Given the description of an element on the screen output the (x, y) to click on. 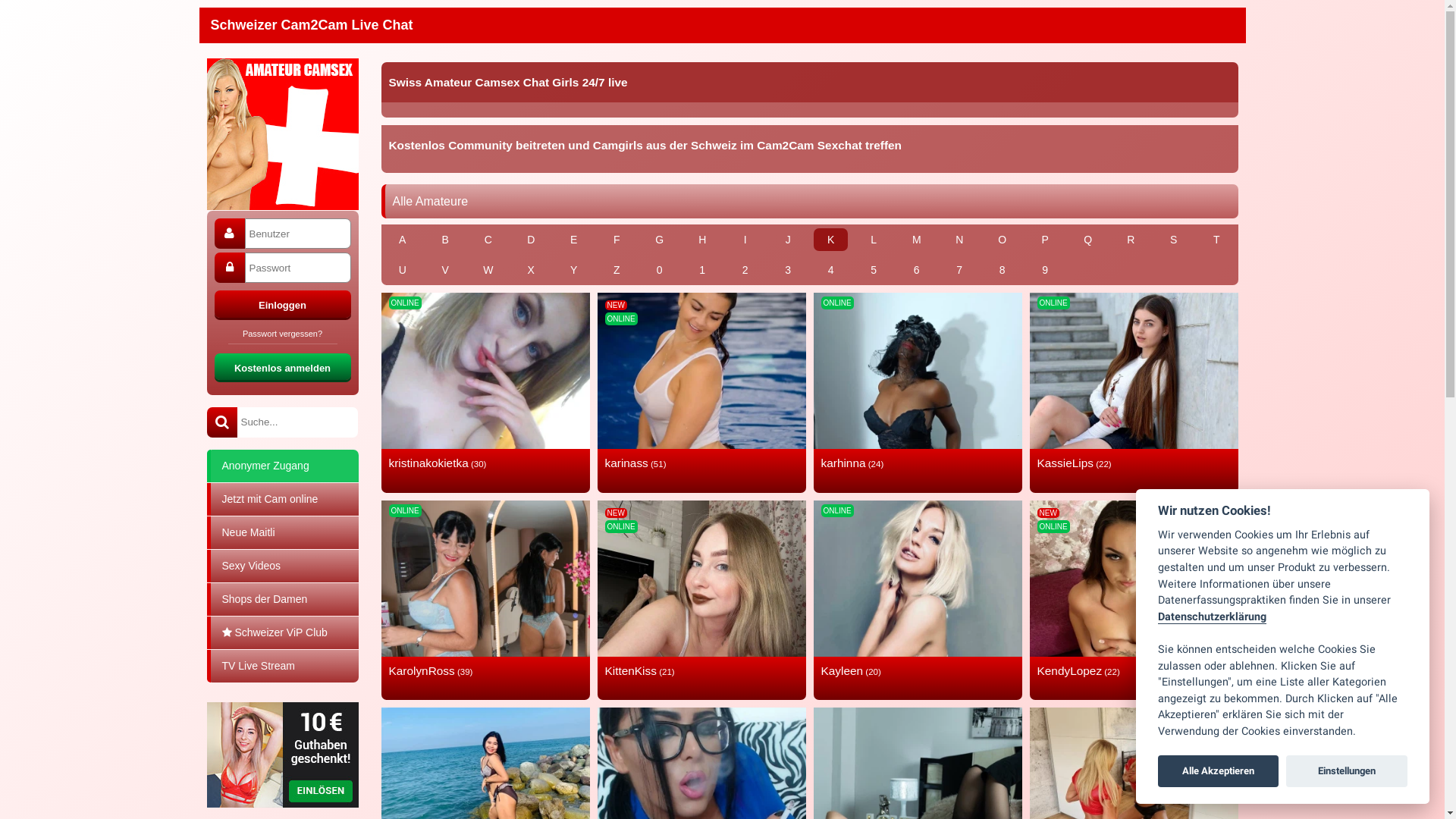
Schweizer Cam2Cam Live Chat Element type: text (311, 24)
0 Element type: text (659, 269)
N Element type: text (959, 239)
H Element type: text (702, 239)
Sexy Videos Element type: text (281, 565)
F Element type: text (616, 239)
Y Element type: text (573, 269)
B Element type: text (445, 239)
C Element type: text (487, 239)
1 Element type: text (702, 269)
E Element type: text (573, 239)
Kostenlos anmelden Element type: text (281, 366)
S Element type: text (1173, 239)
V Element type: text (445, 269)
R Element type: text (1130, 239)
TV Live Stream Element type: text (281, 665)
Shops der Damen Element type: text (281, 598)
8 Element type: text (1002, 269)
J Element type: text (788, 239)
4 Element type: text (830, 269)
I Element type: text (745, 239)
T Element type: text (1216, 239)
U Element type: text (402, 269)
M Element type: text (916, 239)
Schweizer ViP Club Element type: text (281, 631)
Anonymer Zugang Element type: text (281, 464)
Q Element type: text (1087, 239)
G Element type: text (659, 239)
Passwort vergessen? Element type: text (281, 335)
9 Element type: text (1045, 269)
Jetzt mit Cam online Element type: text (281, 498)
Einloggen Element type: text (281, 303)
A Element type: text (402, 239)
3 Element type: text (788, 269)
6 Element type: text (916, 269)
O Element type: text (1002, 239)
5 Element type: text (873, 269)
W Element type: text (487, 269)
7 Element type: text (959, 269)
X Element type: text (531, 269)
Z Element type: text (616, 269)
L Element type: text (873, 239)
Einstellungen Element type: text (1346, 771)
Alle Akzeptieren Element type: text (1218, 771)
2 Element type: text (745, 269)
D Element type: text (531, 239)
P Element type: text (1045, 239)
Neue Maitli Element type: text (281, 531)
K Element type: text (830, 239)
